Given the description of an element on the screen output the (x, y) to click on. 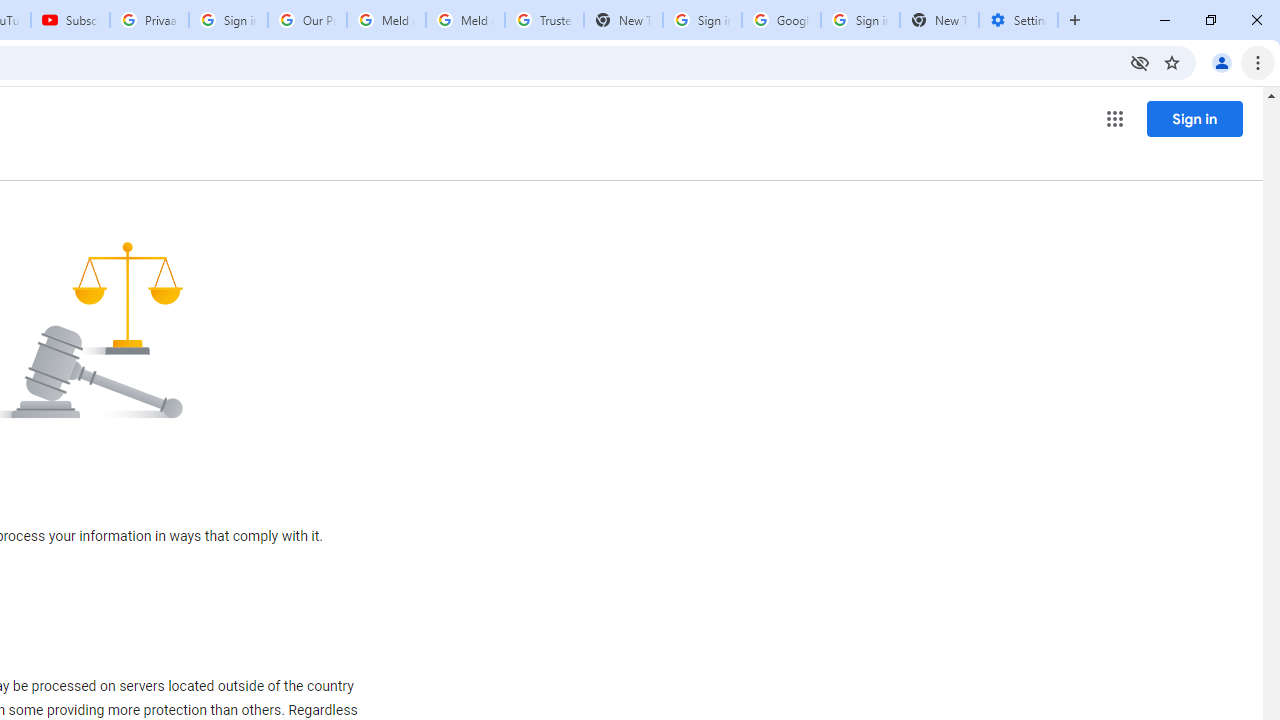
New Tab (939, 20)
Sign in - Google Accounts (228, 20)
Subscriptions - YouTube (70, 20)
